Given the description of an element on the screen output the (x, y) to click on. 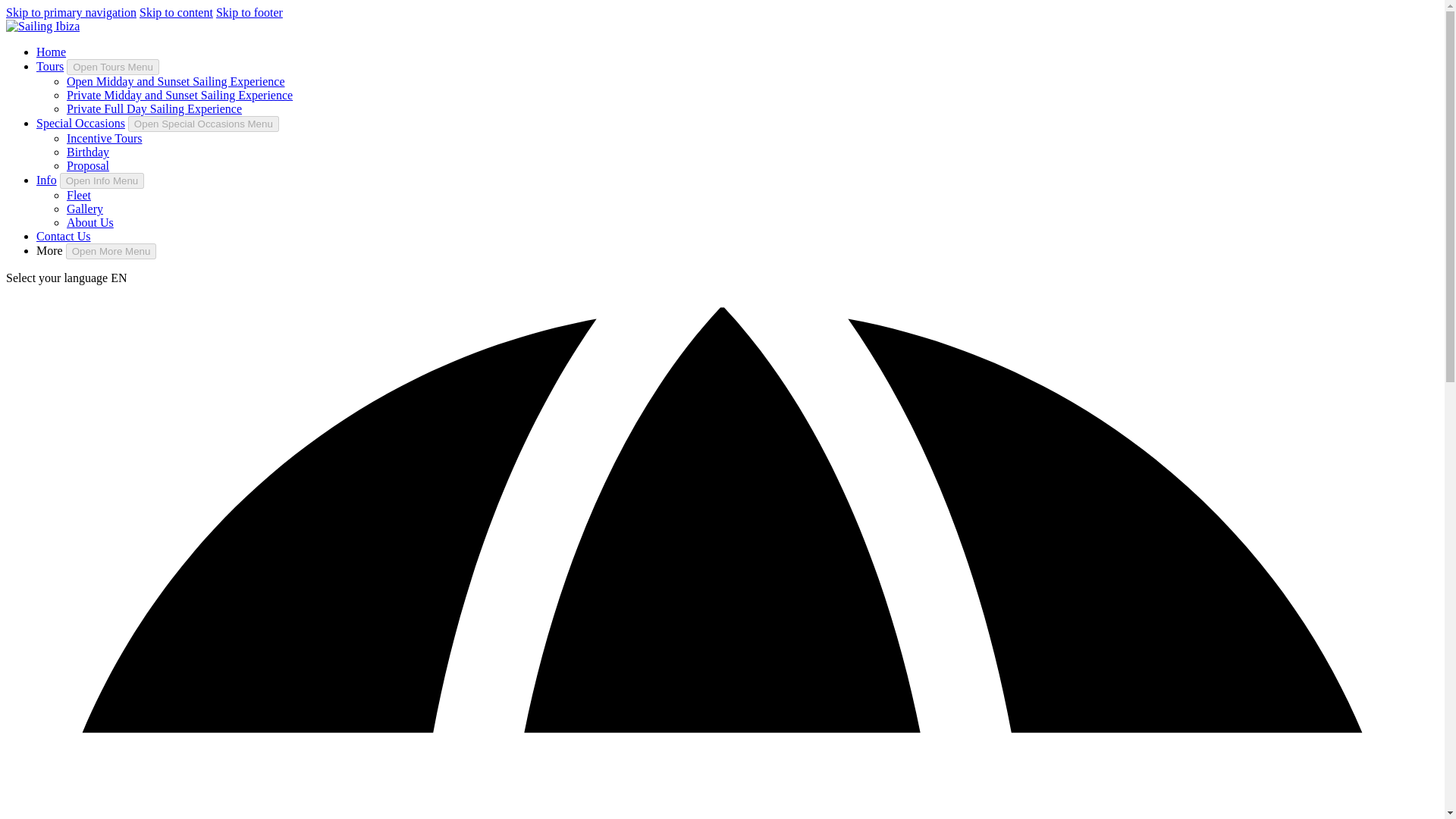
Skip to content (175, 11)
Private Midday and Sunset Sailing Experience (179, 94)
More (49, 250)
Private Full Day Sailing Experience (153, 108)
Special Occasions (80, 123)
Open Info Menu (101, 180)
About Us (89, 222)
Home (50, 51)
Open Tours Menu (112, 66)
Incentive Tours (103, 137)
